Given the description of an element on the screen output the (x, y) to click on. 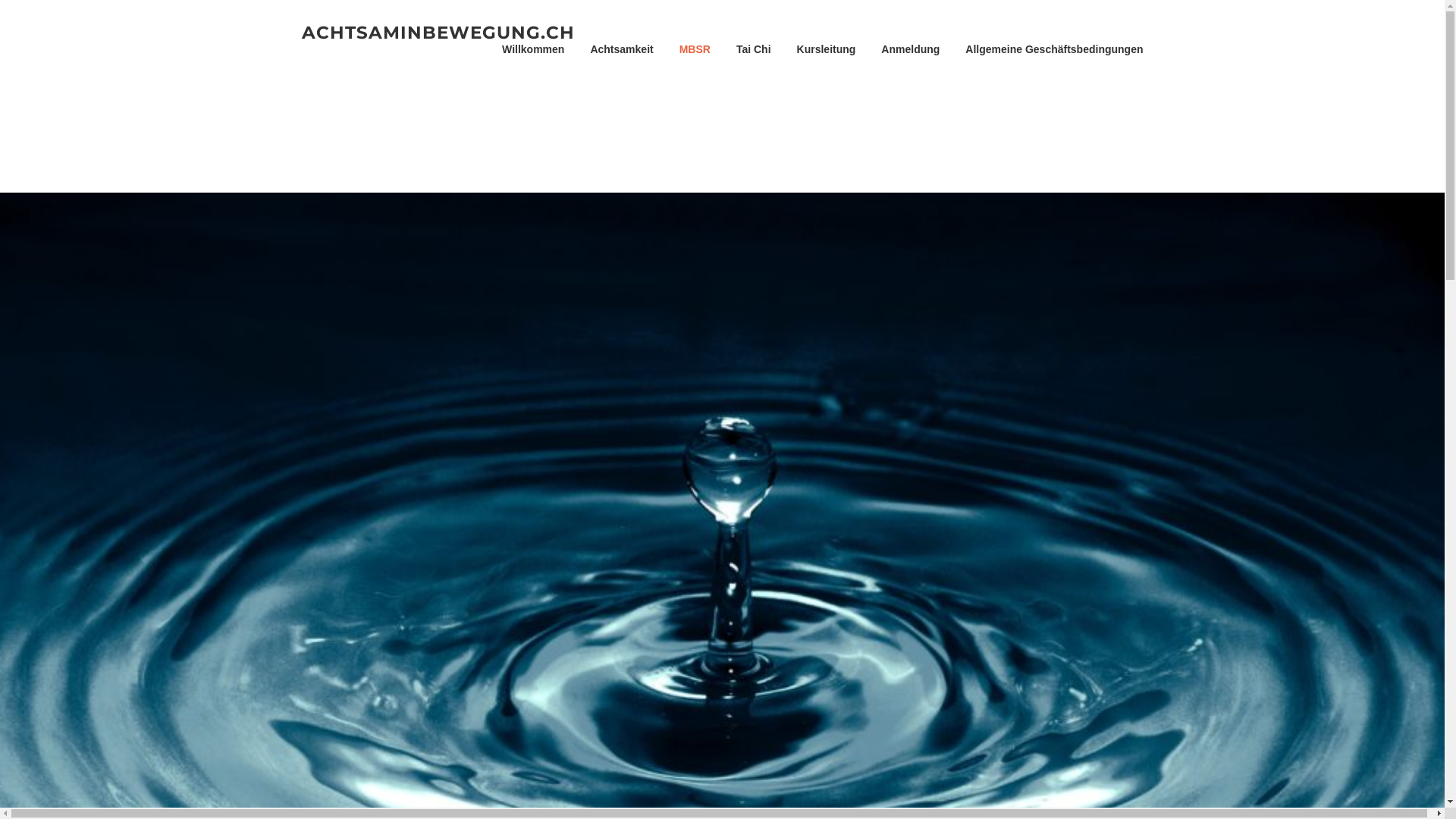
Willkommen Element type: text (533, 49)
Kursleitung Element type: text (826, 49)
Anmeldung Element type: text (910, 49)
ACHTSAMINBEWEGUNG.CH Element type: text (437, 31)
Tai Chi Element type: text (753, 49)
Achtsamkeit Element type: text (621, 49)
MBSR Element type: text (694, 49)
